Given the description of an element on the screen output the (x, y) to click on. 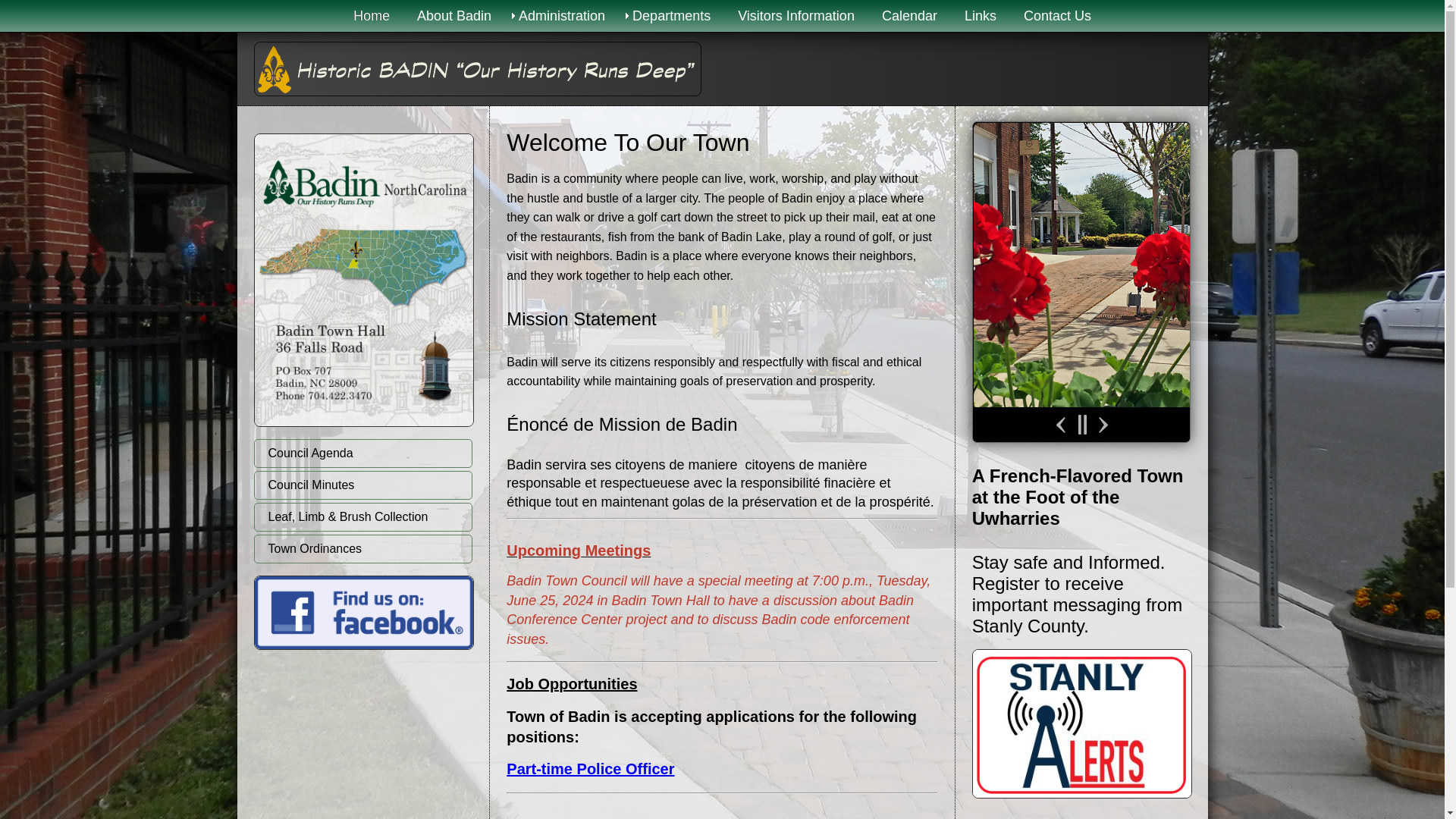
Pause (1080, 424)
Visitors Information (795, 15)
Calendar (908, 15)
Administration (561, 15)
Contact Us (1057, 15)
Links (980, 15)
About Badin (454, 15)
Part-time Police Officer (590, 768)
Departments (670, 15)
Council Minutes (362, 484)
Town Ordinances (362, 548)
Council Agenda (362, 452)
Home (371, 15)
